Given the description of an element on the screen output the (x, y) to click on. 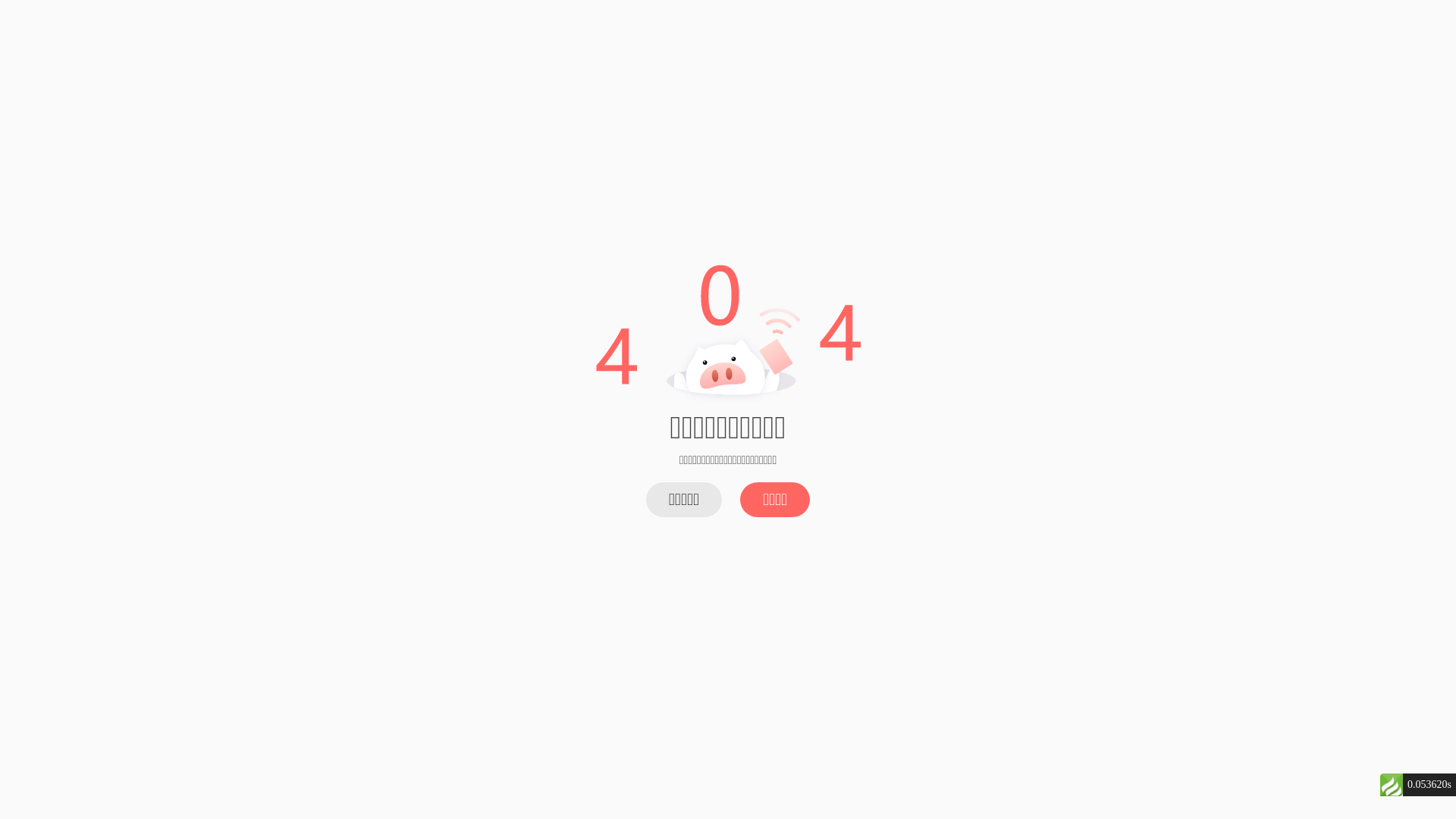
ShowPageTrace Element type: hover (1391, 784)
